Given the description of an element on the screen output the (x, y) to click on. 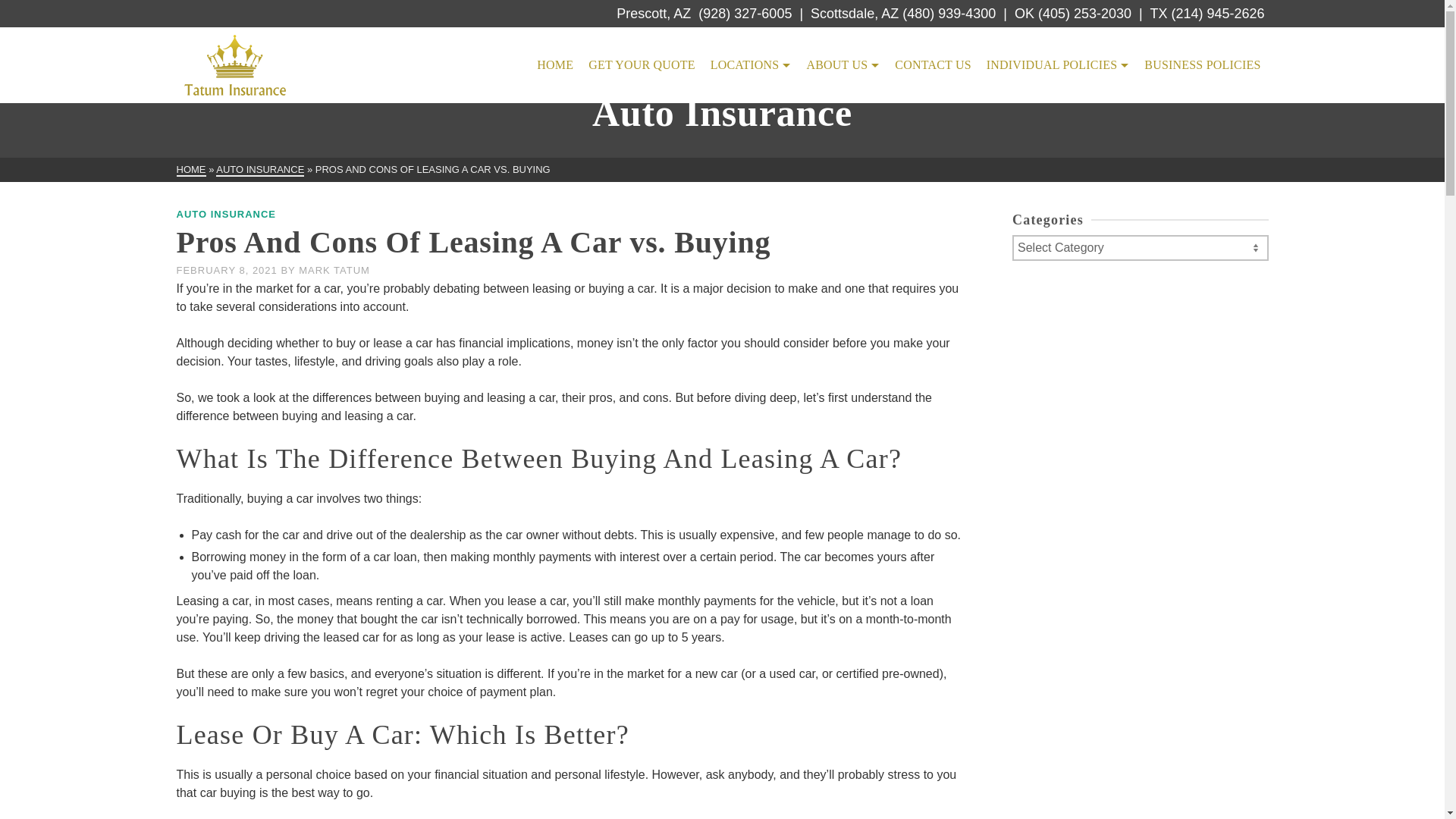
INDIVIDUAL POLICIES (1057, 64)
BUSINESS POLICIES (1202, 64)
GET YOUR QUOTE (641, 64)
MARK TATUM (333, 270)
AUTO INSURANCE (226, 214)
ABOUT US (841, 64)
HOME (554, 64)
AUTO INSURANCE (259, 169)
HOME (190, 169)
LOCATIONS (751, 64)
